Given the description of an element on the screen output the (x, y) to click on. 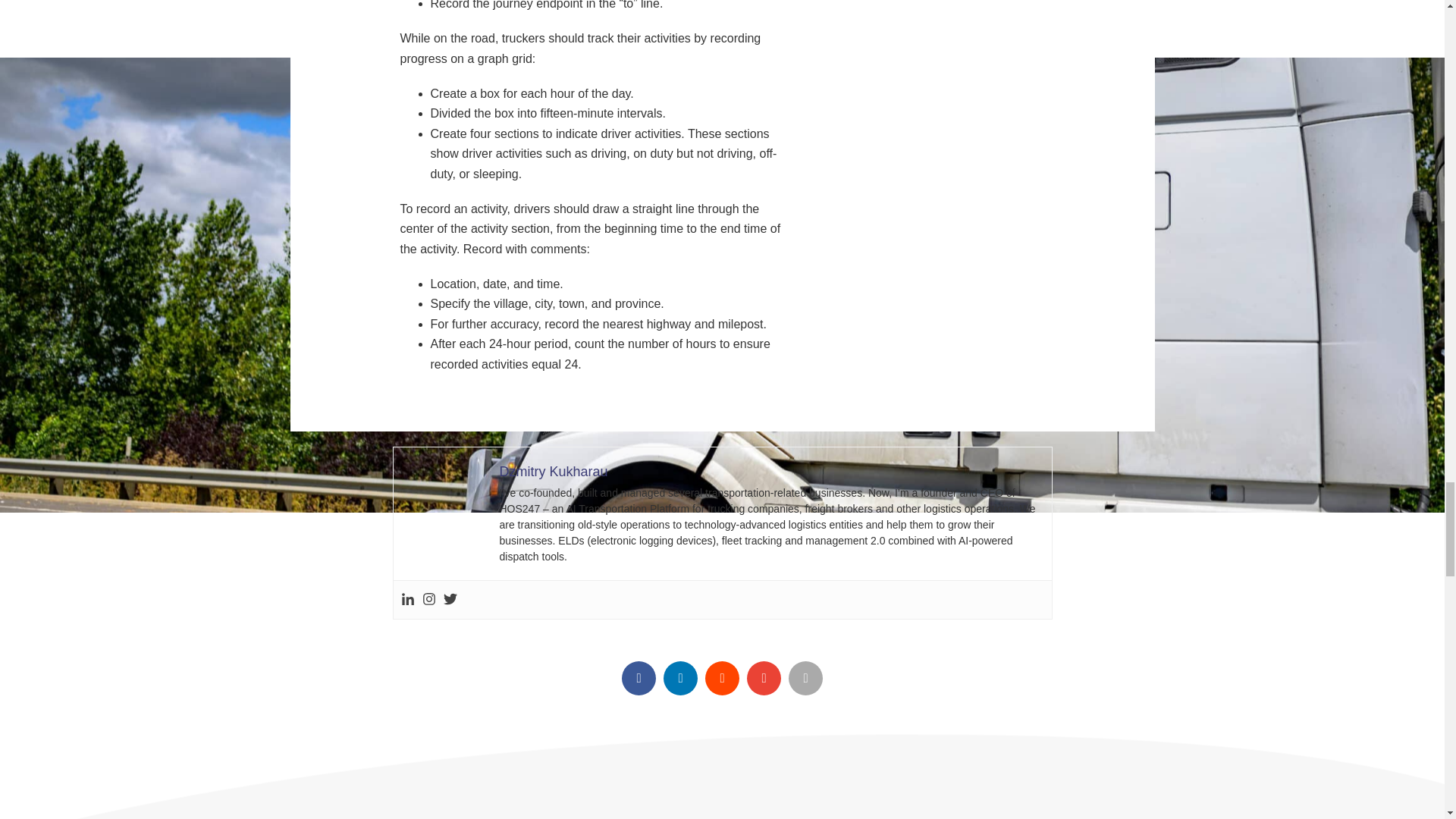
Instagram (428, 599)
Dzmitry Kukharau (553, 471)
Twitter (449, 599)
Linkedin (406, 599)
